Given the description of an element on the screen output the (x, y) to click on. 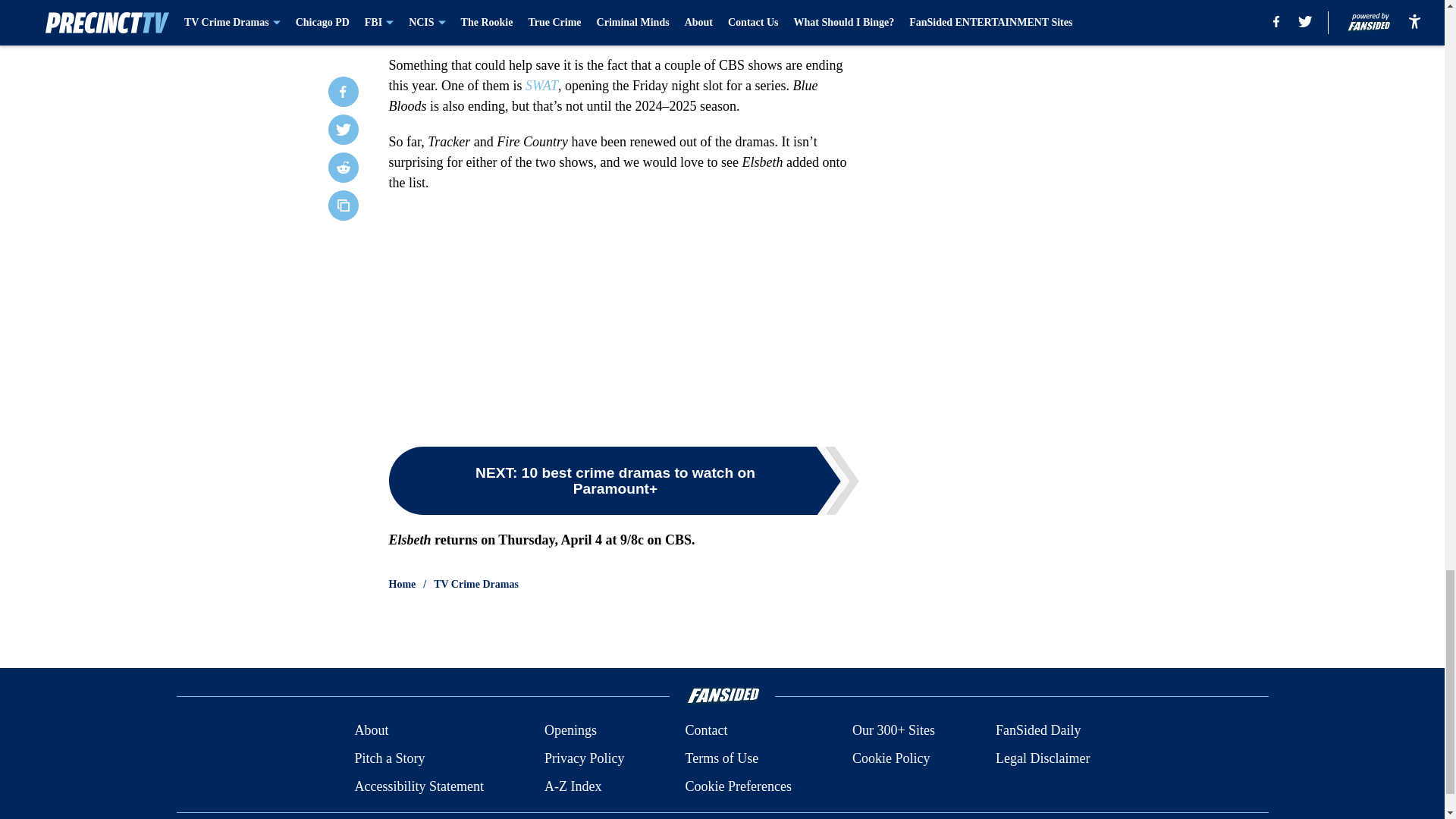
SWAT (541, 85)
Home (401, 584)
TV Crime Dramas (475, 584)
